Given the description of an element on the screen output the (x, y) to click on. 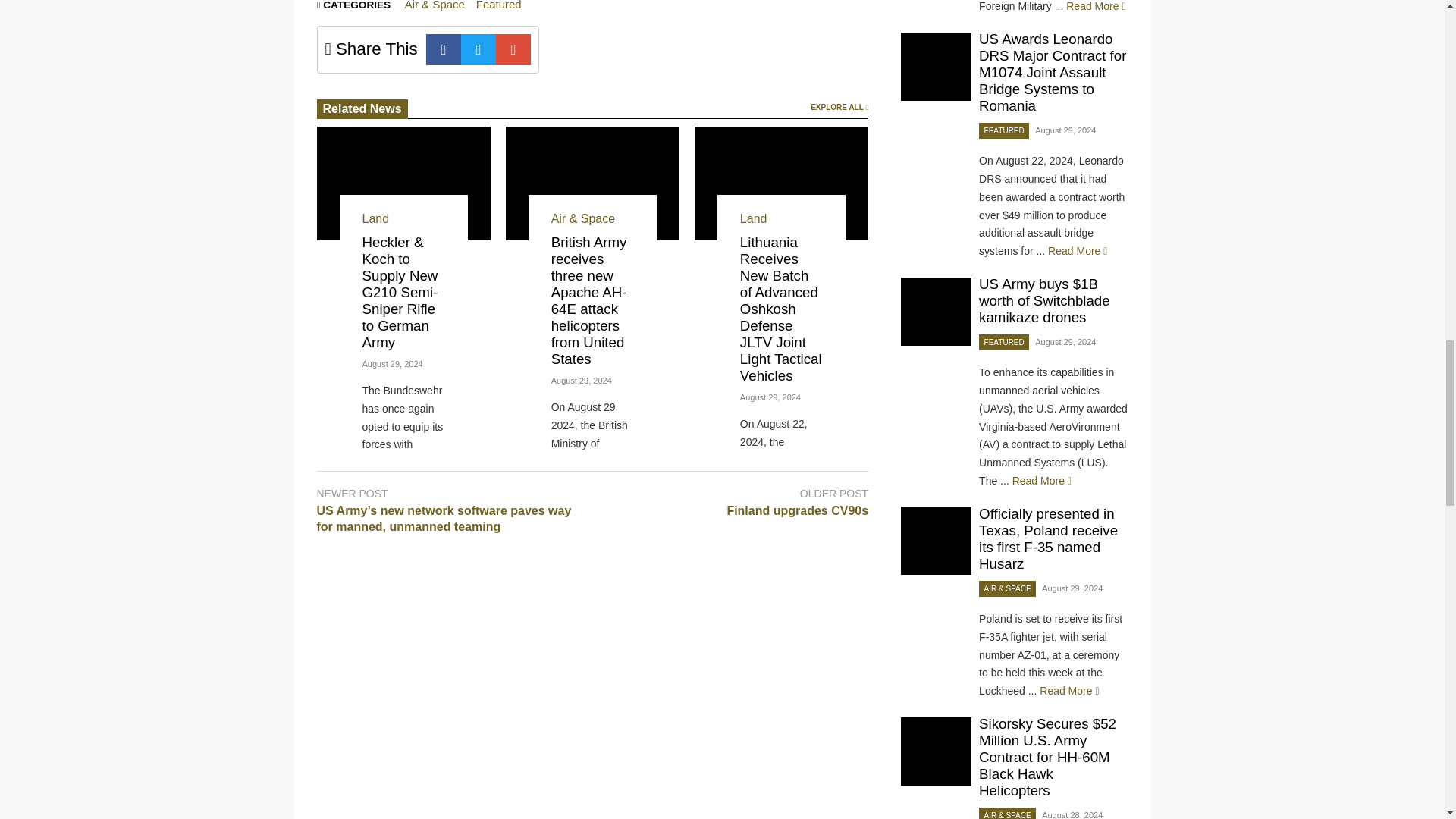
Twitter (478, 49)
Land (376, 218)
Google-plus (513, 49)
Related News (362, 108)
Facebook (443, 49)
Featured (498, 5)
